Given the description of an element on the screen output the (x, y) to click on. 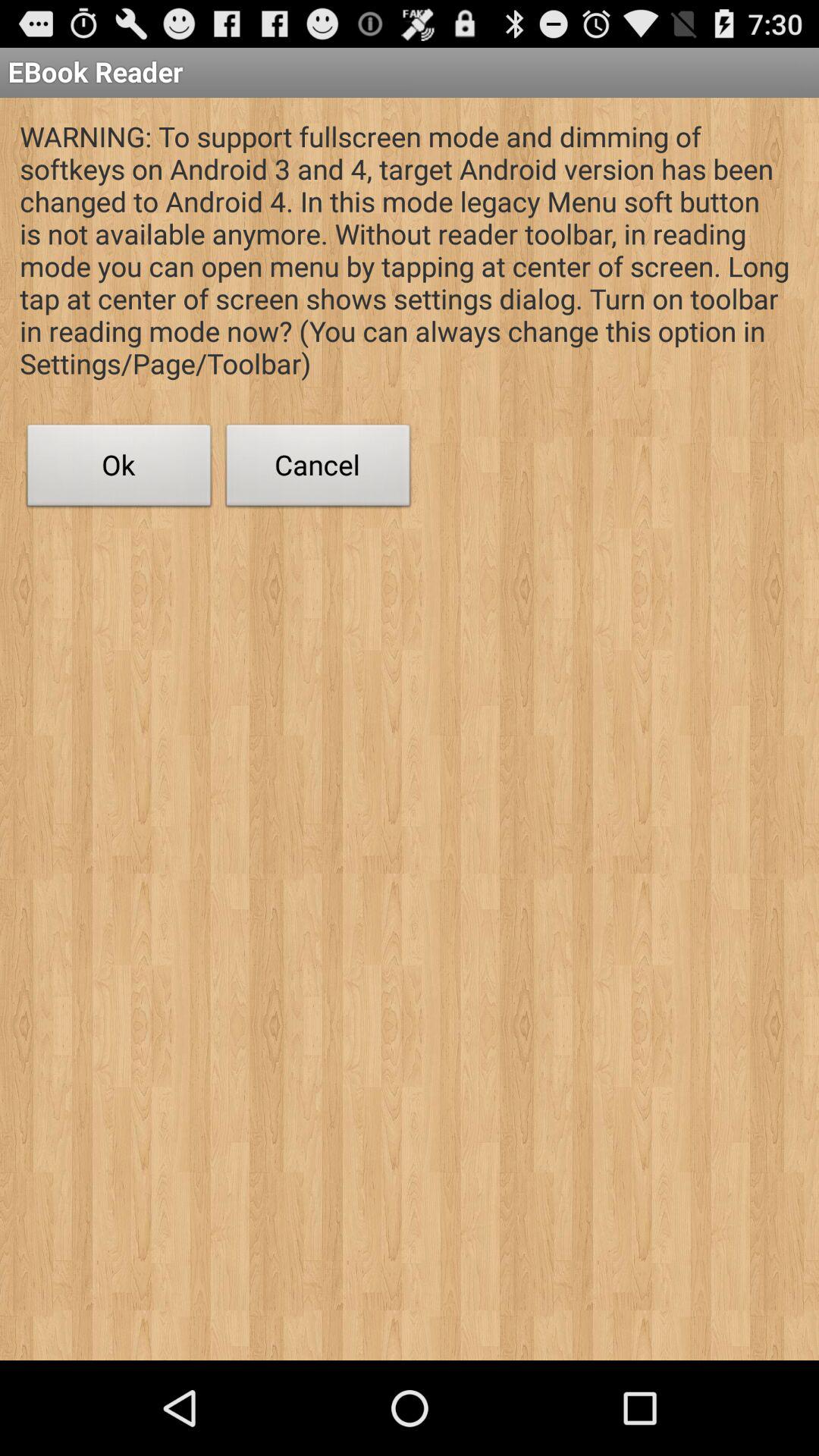
turn on item below warning to support (318, 469)
